Given the description of an element on the screen output the (x, y) to click on. 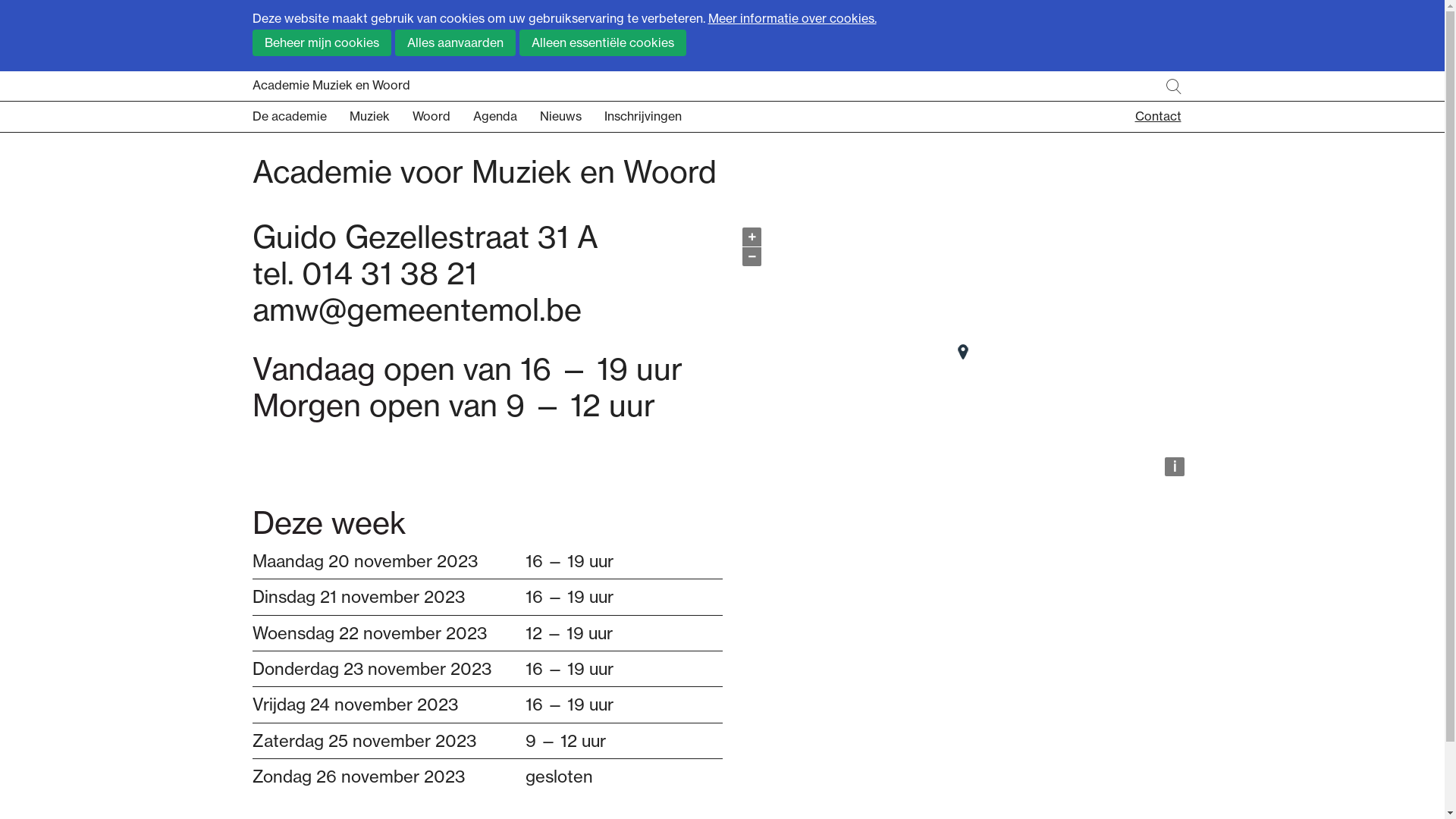
Alles aanvaarden Element type: text (454, 42)
Beheer mijn cookies Element type: text (320, 42)
Woord Element type: text (442, 116)
Naar content Element type: text (721, 153)
De academie Element type: text (299, 116)
+ Element type: text (750, 236)
Contact Element type: text (1157, 116)
Meer informatie over cookies. Element type: text (792, 17)
Agenda Element type: text (506, 116)
014 31 38 21 Element type: text (388, 272)
amw@gemeentemol.be Element type: text (415, 309)
Academie Muziek en Woord Element type: text (721, 85)
Nieuws Element type: text (571, 116)
Inschrijvingen Element type: text (653, 116)
Zoeken Element type: text (1173, 86)
i Element type: text (1173, 466)
Muziek Element type: text (379, 116)
